Given the description of an element on the screen output the (x, y) to click on. 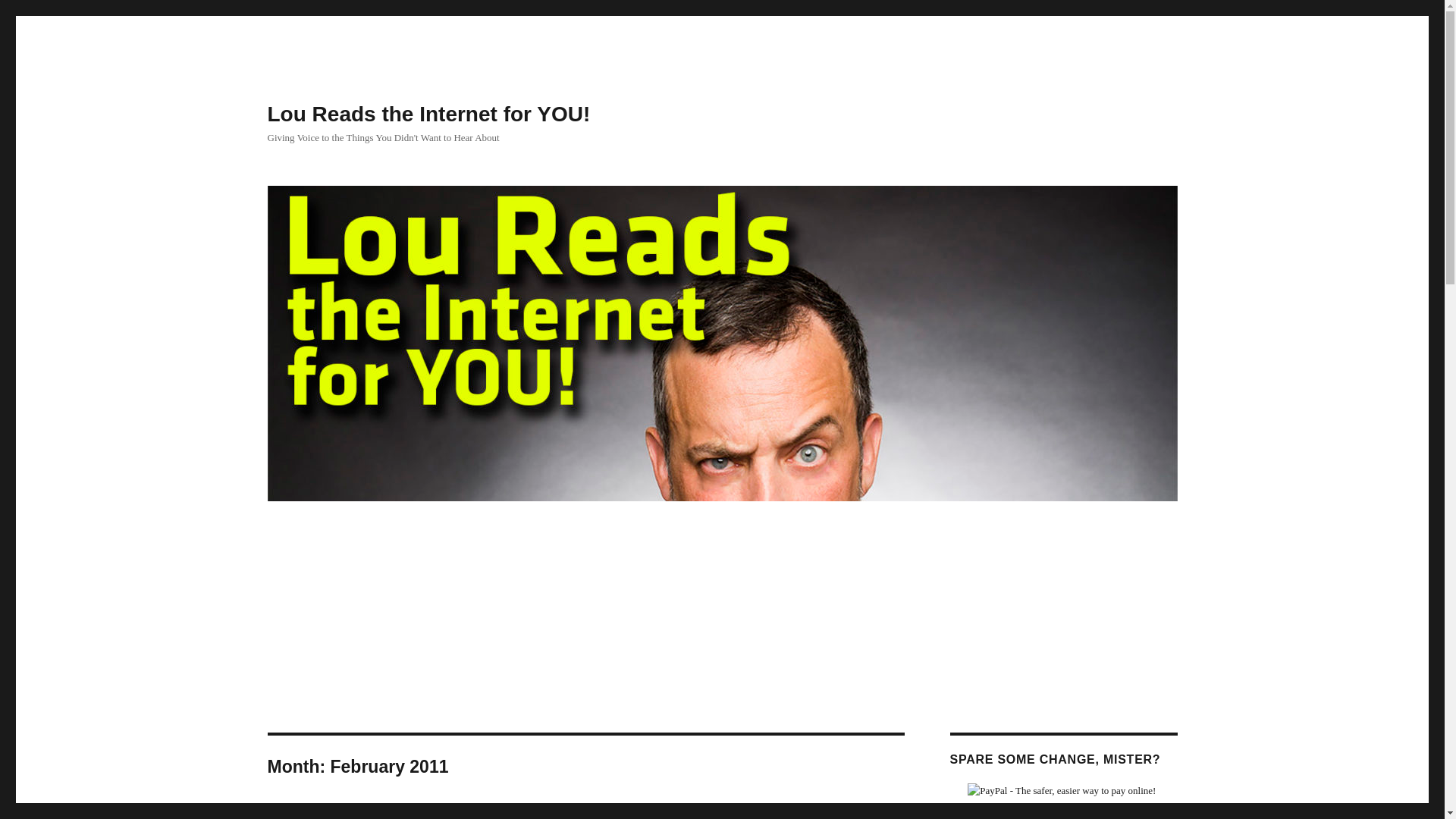
Lou Reads the Internet for YOU! (427, 114)
